Given the description of an element on the screen output the (x, y) to click on. 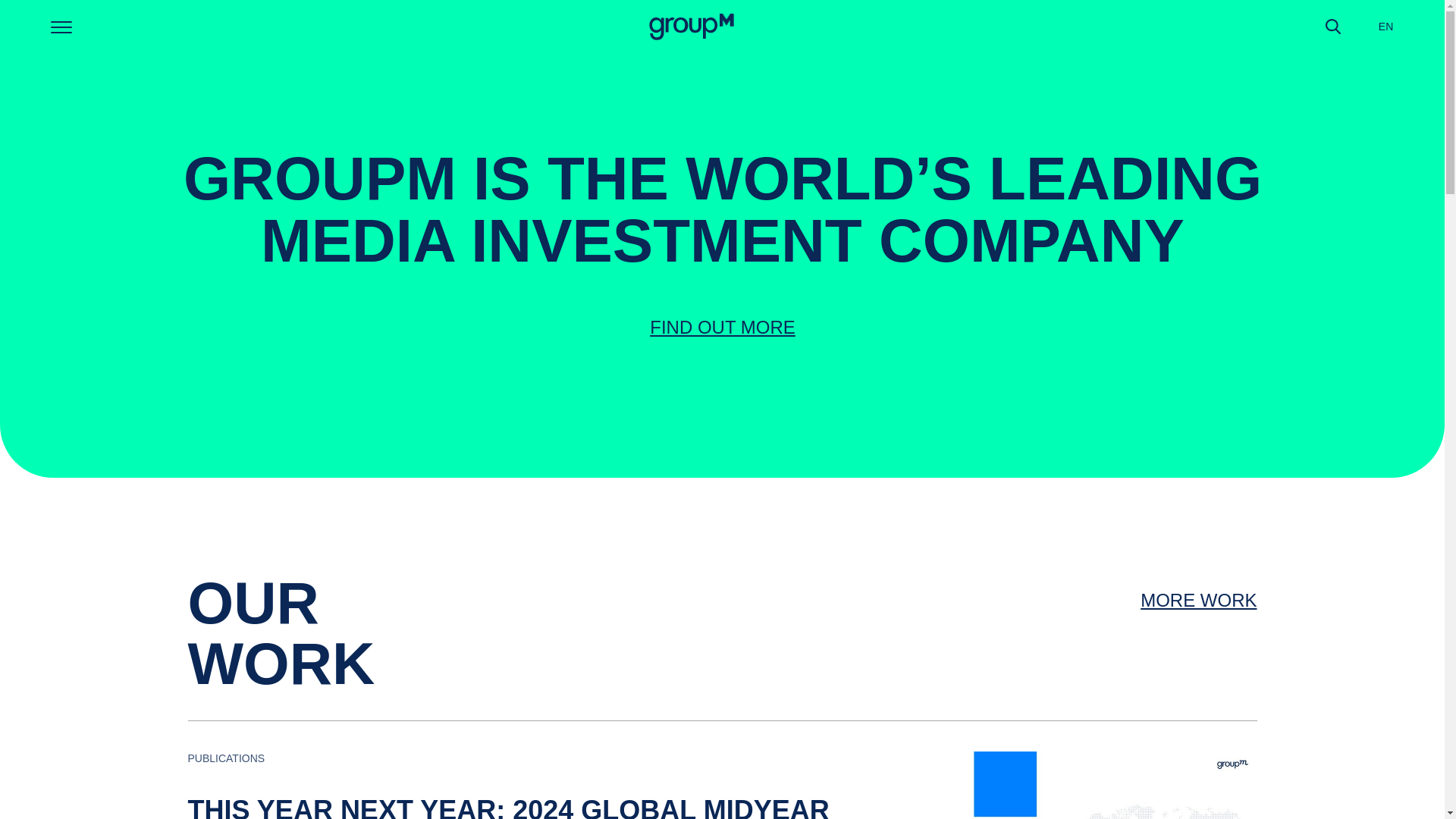
PUBLICATIONS (230, 757)
EN (1385, 26)
FIND OUT MORE (721, 326)
THIS YEAR NEXT YEAR: 2024 GLOBAL MIDYEAR FORECAST (508, 806)
